Given the description of an element on the screen output the (x, y) to click on. 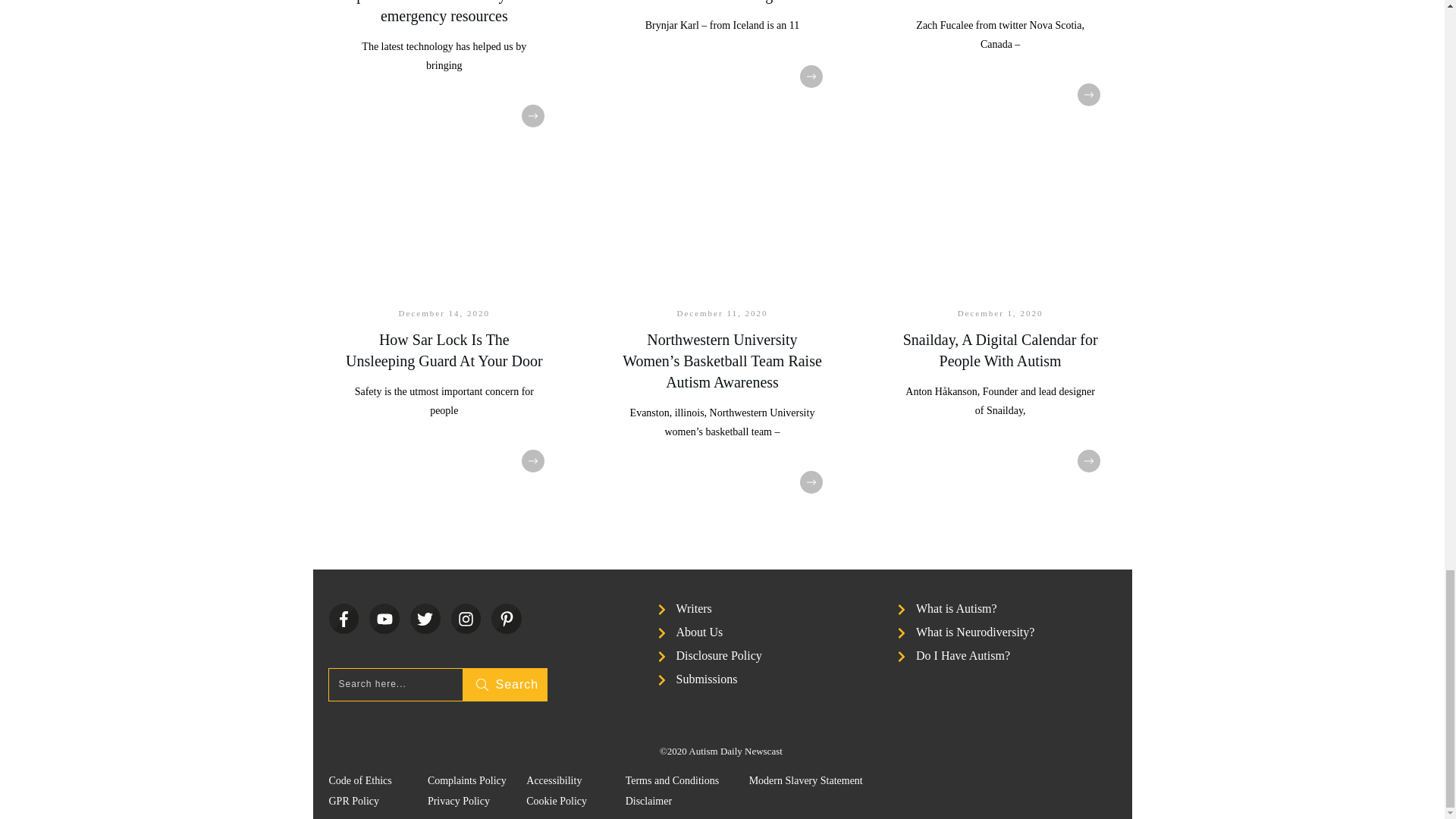
Young Boy with Autism Makes Video Plea to Lego (721, 1)
How Sar Lock Is The Unsleeping Guard At Your Door (443, 350)
Zach Fucalee is Helping to Raise Autism Awareness (999, 1)
Snailday, A Digital Calendar for People With Autism (999, 350)
